Given the description of an element on the screen output the (x, y) to click on. 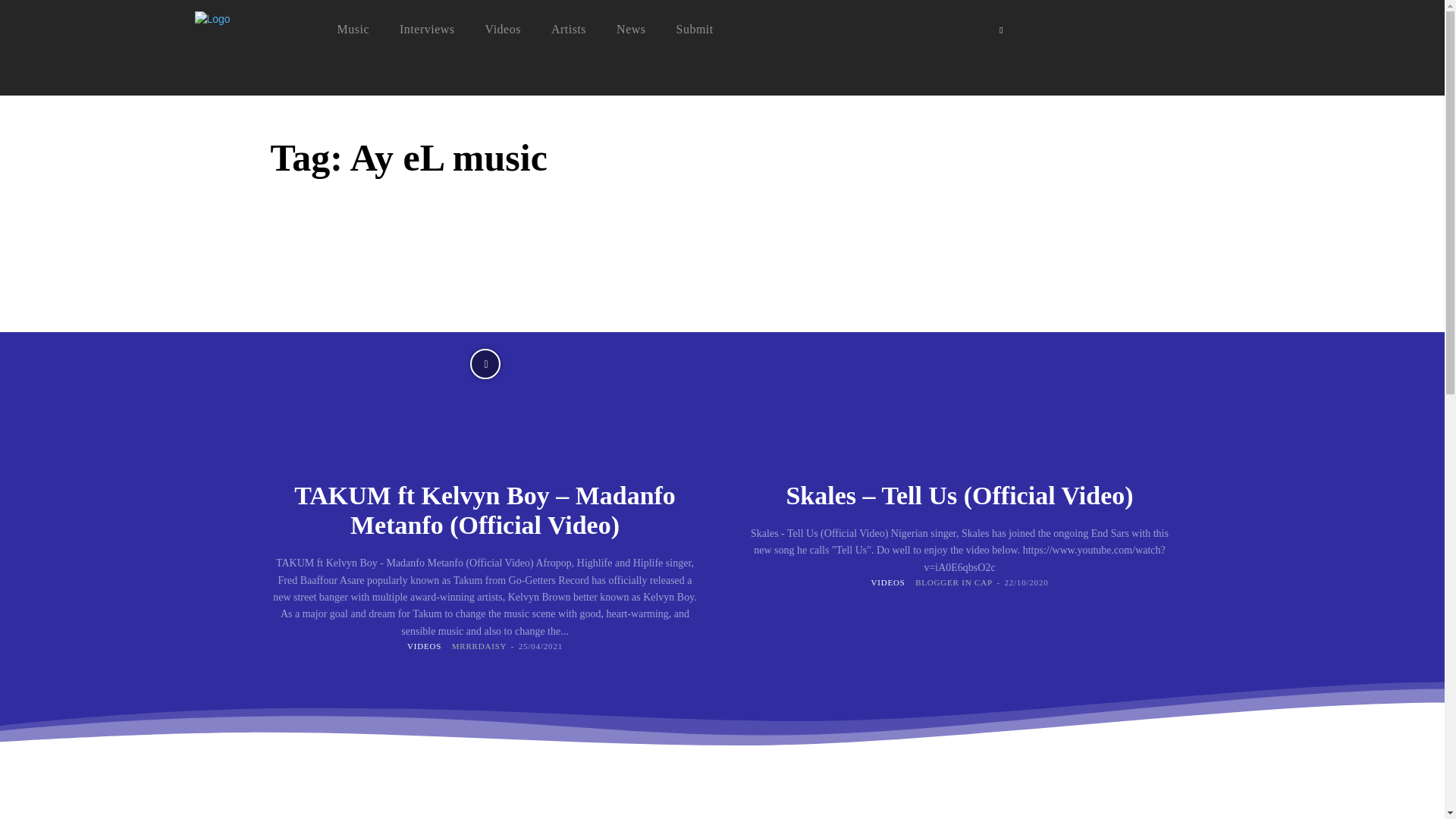
MRRRDAISY (478, 645)
Interviews (426, 29)
VIDEOS (887, 582)
BLOGGER IN CAP (953, 582)
VIDEOS (424, 645)
